Given the description of an element on the screen output the (x, y) to click on. 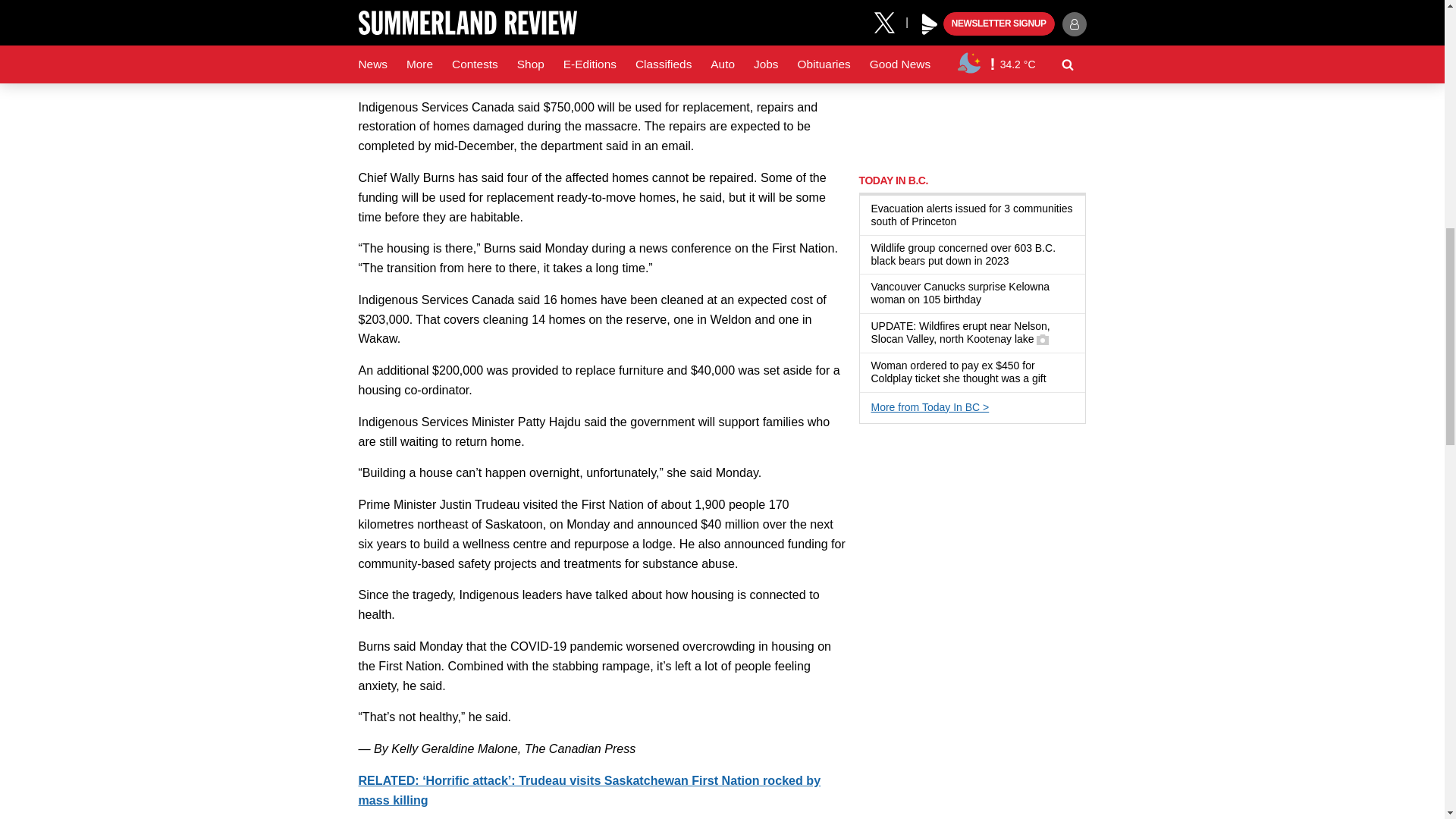
Has a gallery (1042, 339)
related story (589, 789)
